Given the description of an element on the screen output the (x, y) to click on. 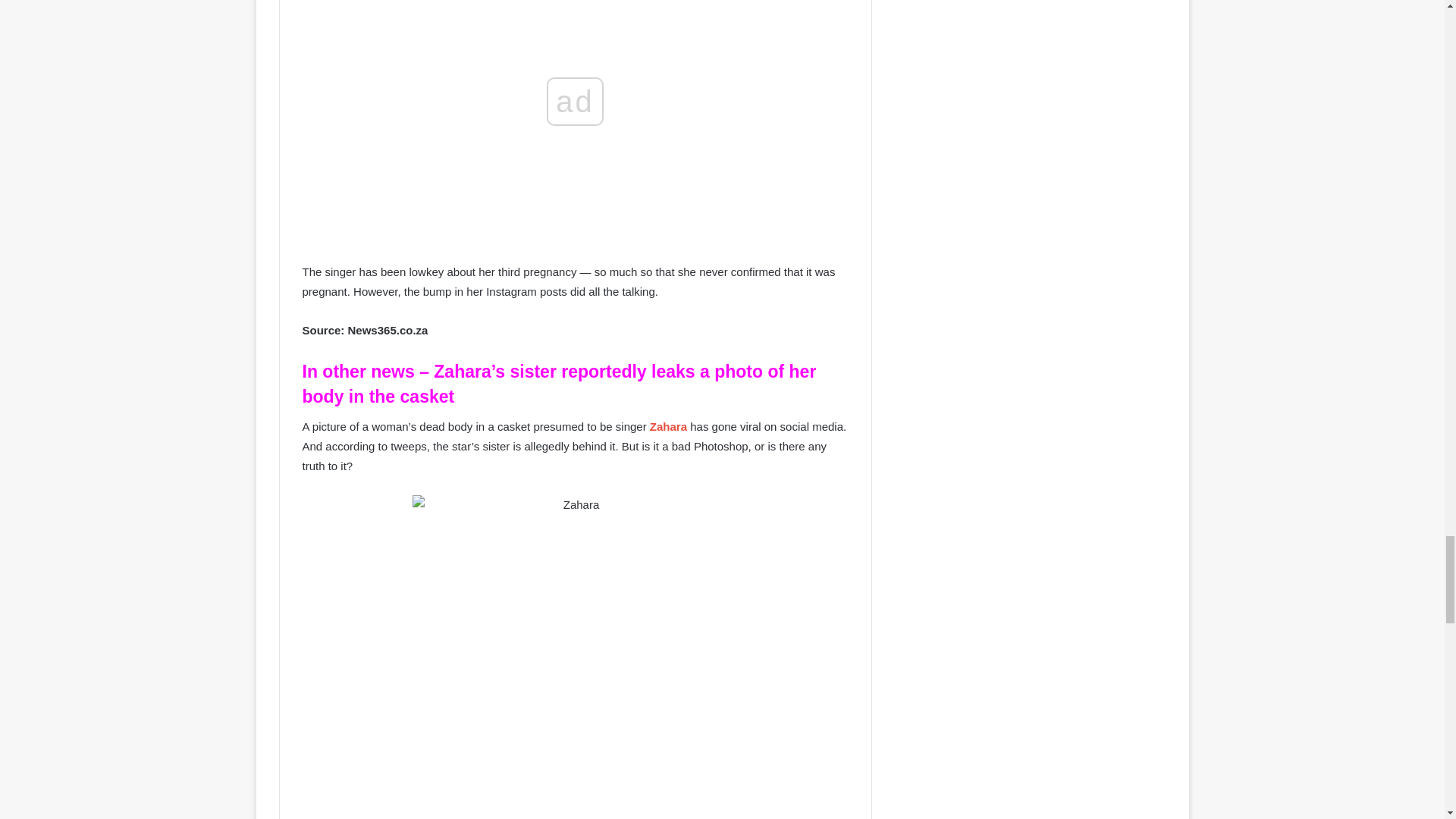
Zahara  (669, 426)
